Given the description of an element on the screen output the (x, y) to click on. 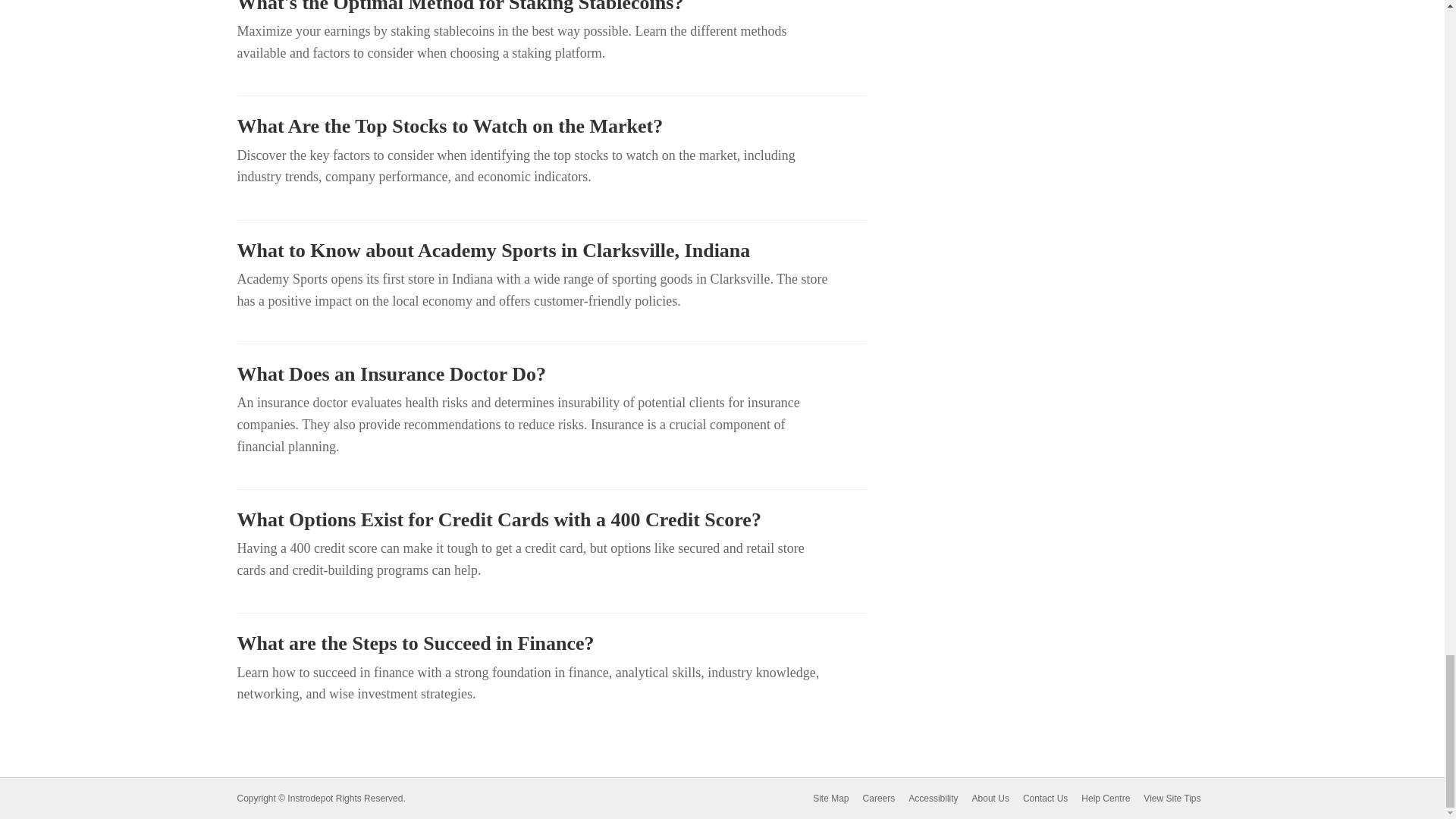
What Are the Top Stocks to Watch on the Market? (550, 126)
What to Know about Academy Sports in Clarksville, Indiana (550, 250)
What's the Optimal Method for Staking Stablecoins? (550, 7)
What Does an Insurance Doctor Do? (550, 374)
What are the Steps to Succeed in Finance? (550, 643)
What Options Exist for Credit Cards with a 400 Credit Score? (550, 519)
